Given the description of an element on the screen output the (x, y) to click on. 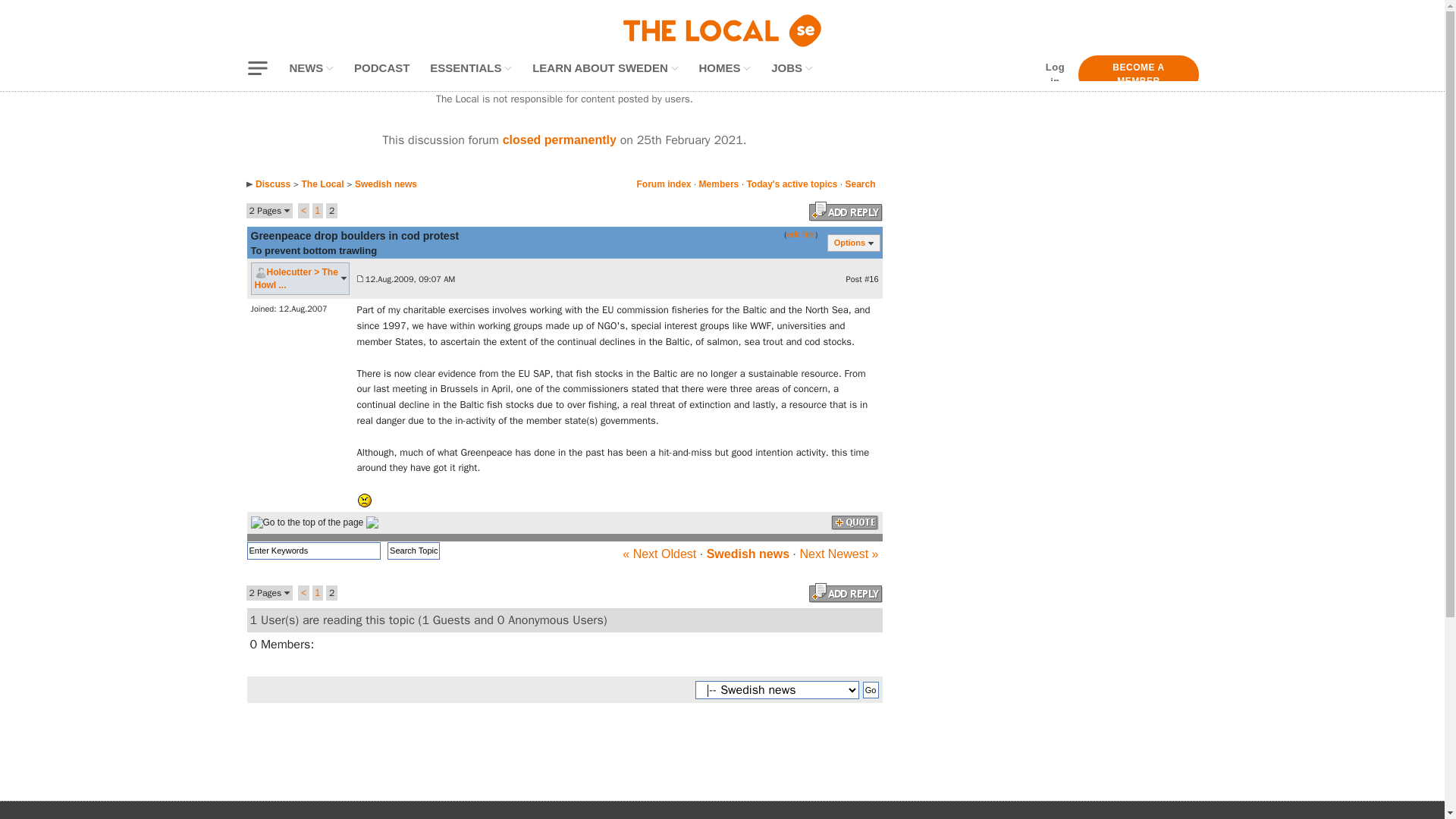
Show the link to this post (870, 278)
Search Topic (413, 550)
Enter Keywords (313, 550)
ESSENTIALS (470, 68)
HOMES (724, 68)
Enter Keywords (313, 550)
NEWS (310, 68)
JOBS (791, 68)
Go (871, 690)
LEARN ABOUT SWEDEN (605, 68)
PODCAST (381, 68)
